Given the description of an element on the screen output the (x, y) to click on. 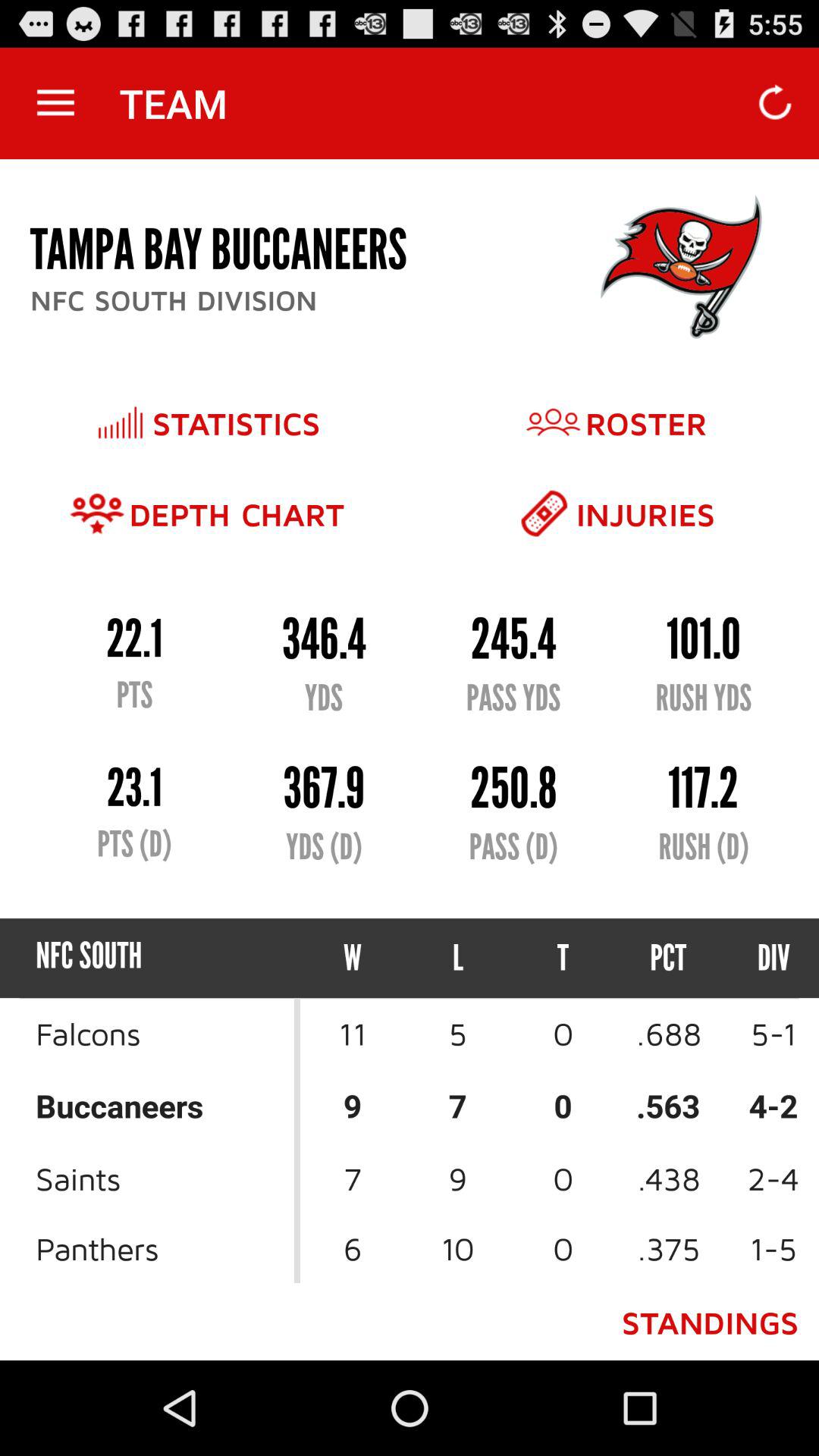
choose the app next to the team (55, 103)
